Given the description of an element on the screen output the (x, y) to click on. 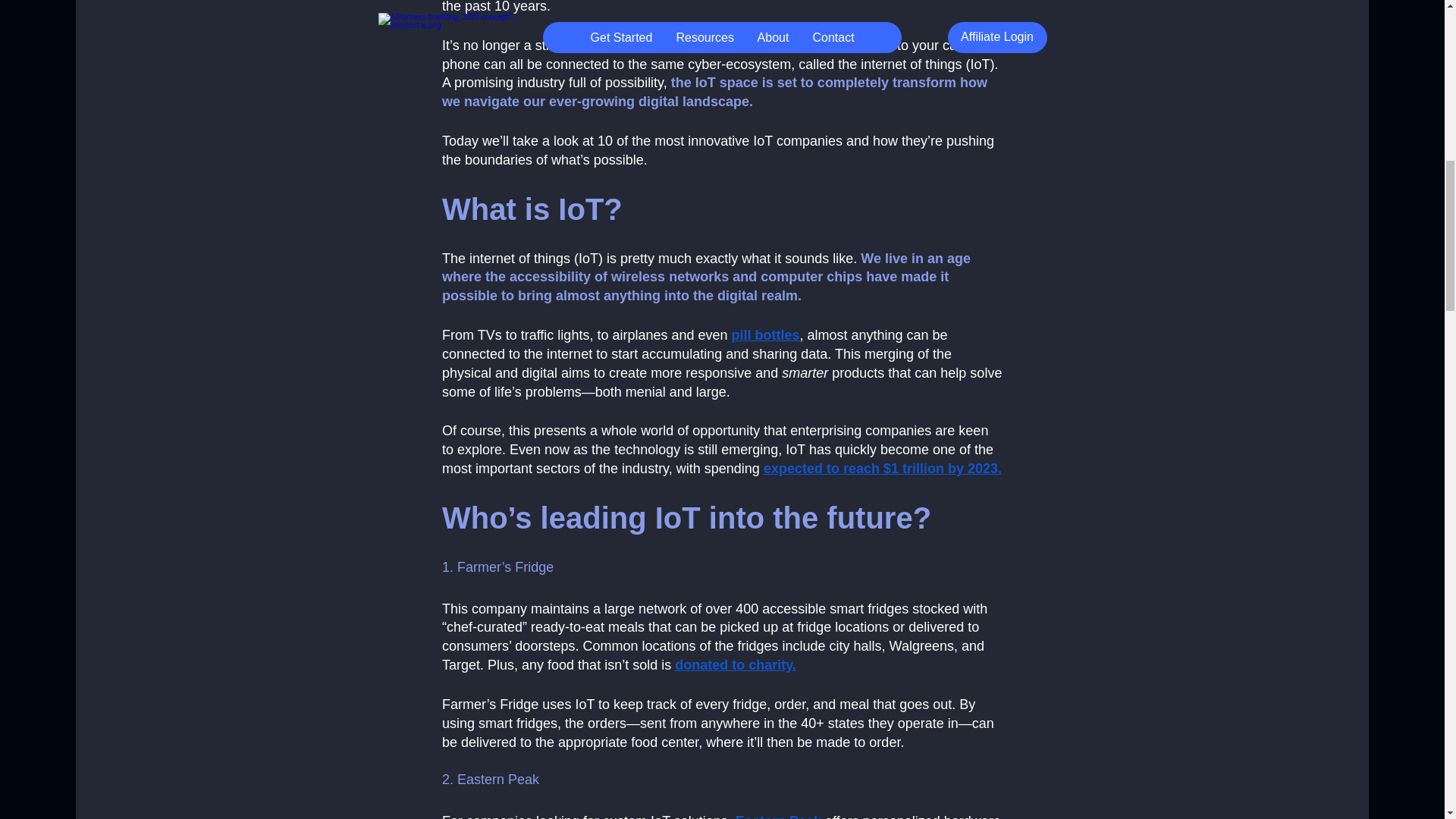
Eastern Peak (778, 816)
pill bottles (764, 335)
donated to charity. (735, 664)
